Given the description of an element on the screen output the (x, y) to click on. 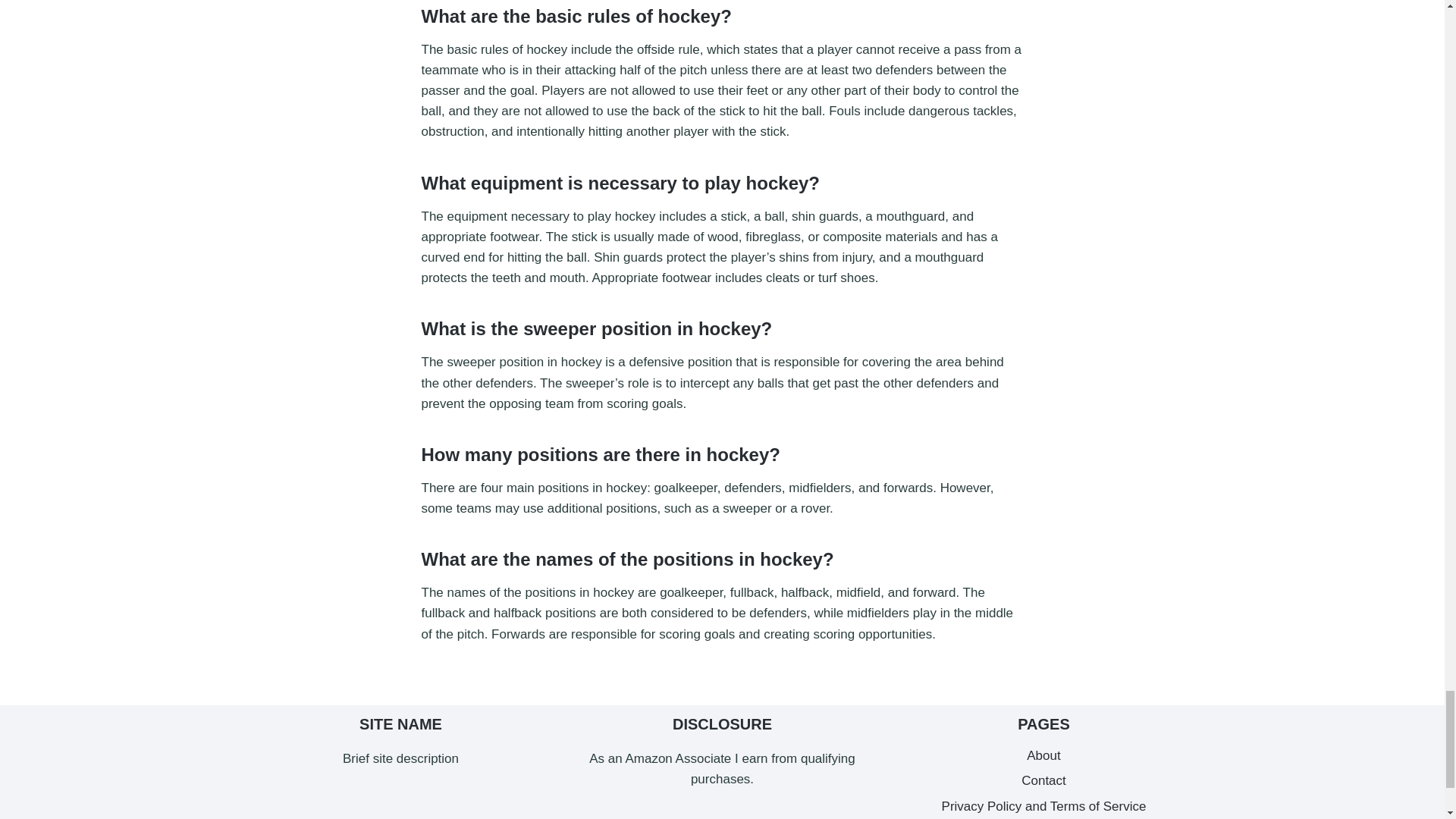
Privacy Policy and Terms of Service (1044, 806)
Contact (1044, 781)
About (1044, 755)
